Given the description of an element on the screen output the (x, y) to click on. 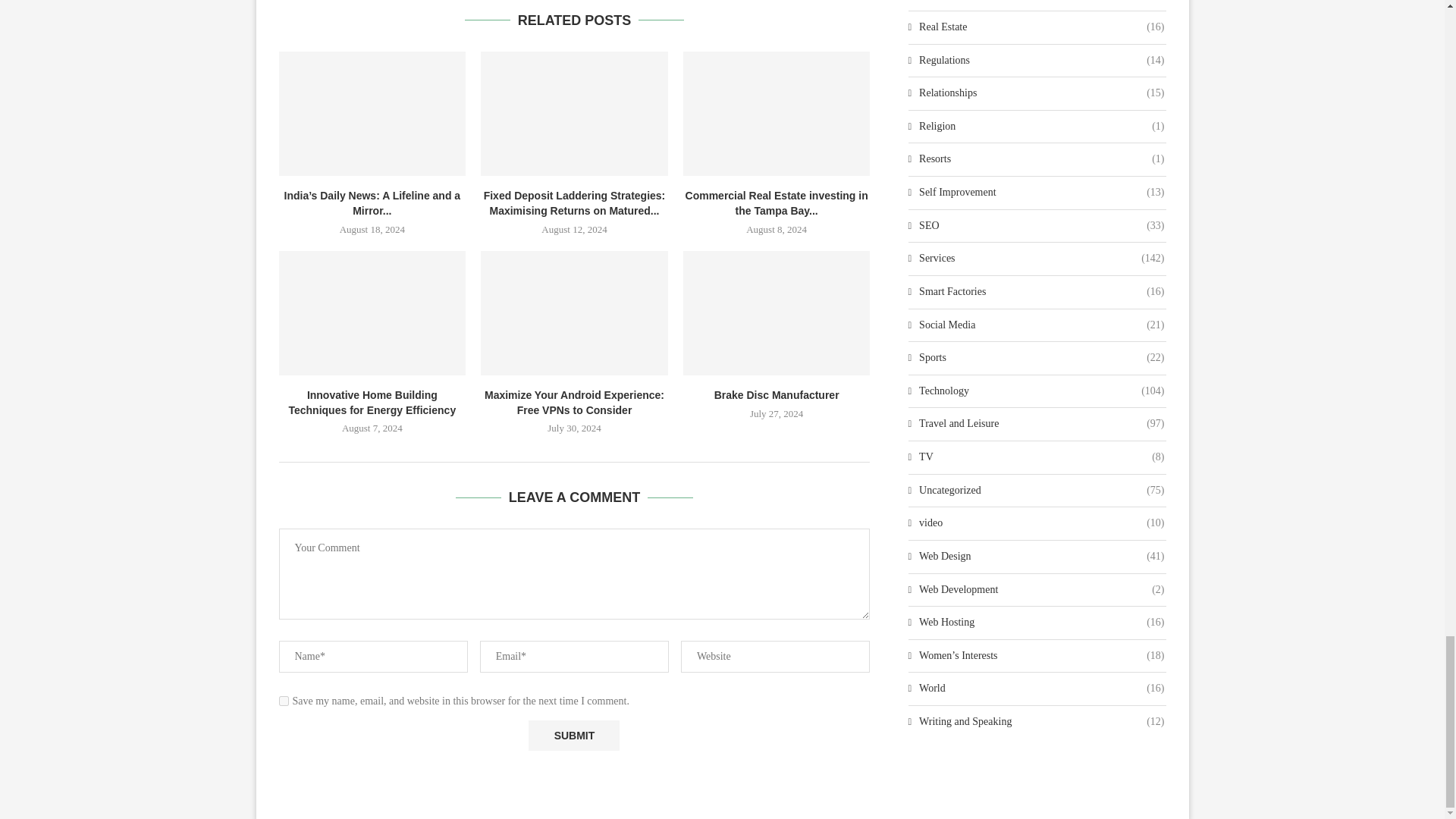
Submit (574, 735)
Commercial Real Estate investing in the Tampa Bay MSA (776, 113)
Brake Disc Manufacturer (776, 312)
Innovative Home Building Techniques for Energy Efficiency (372, 312)
Maximize Your Android Experience: Free VPNs to Consider (574, 312)
yes (283, 700)
